Given the description of an element on the screen output the (x, y) to click on. 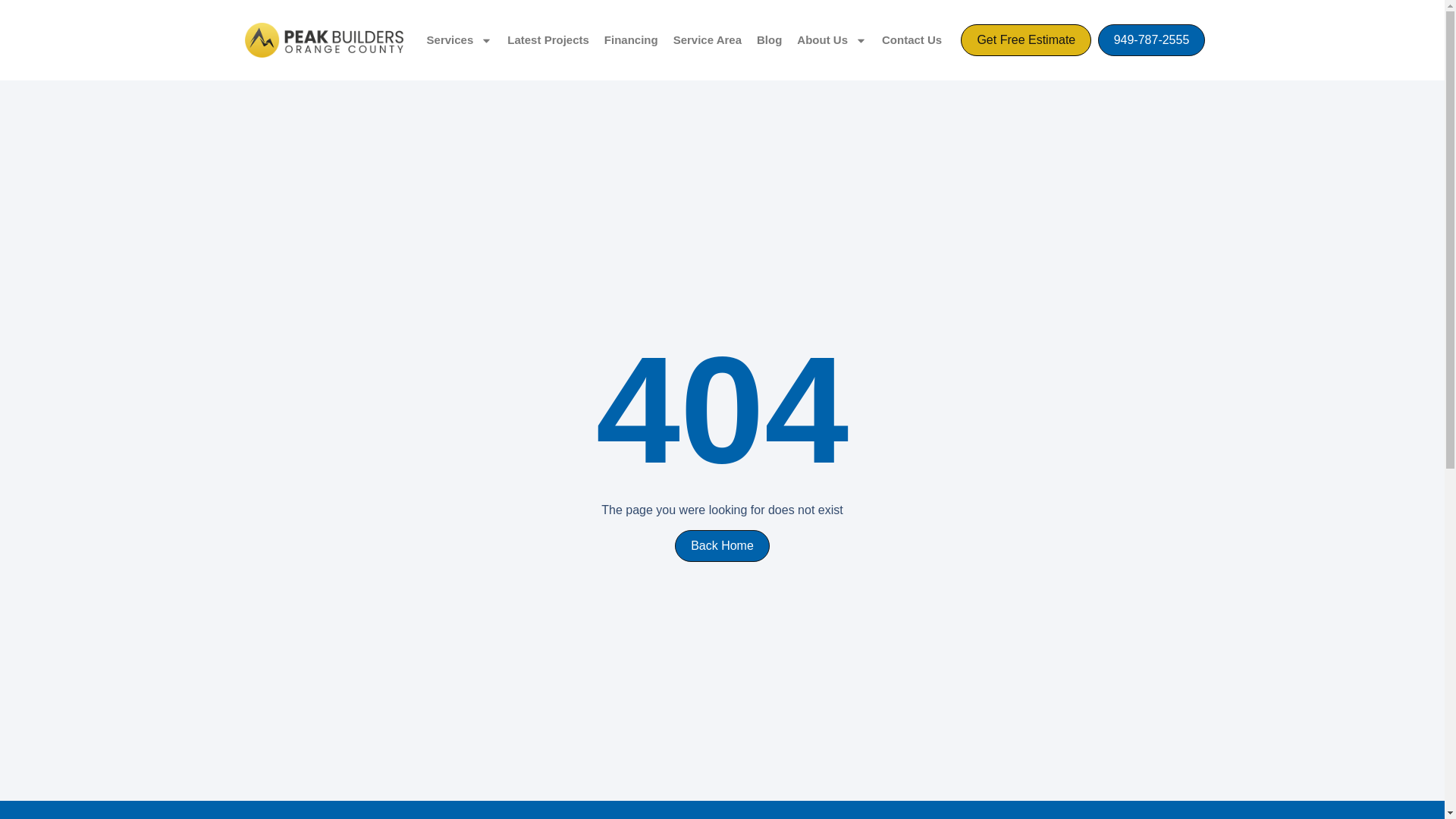
Service Area (707, 39)
Blog (769, 39)
Contact Us (912, 39)
Services (459, 39)
Latest Projects (547, 39)
About Us (832, 39)
Financing (630, 39)
